Given the description of an element on the screen output the (x, y) to click on. 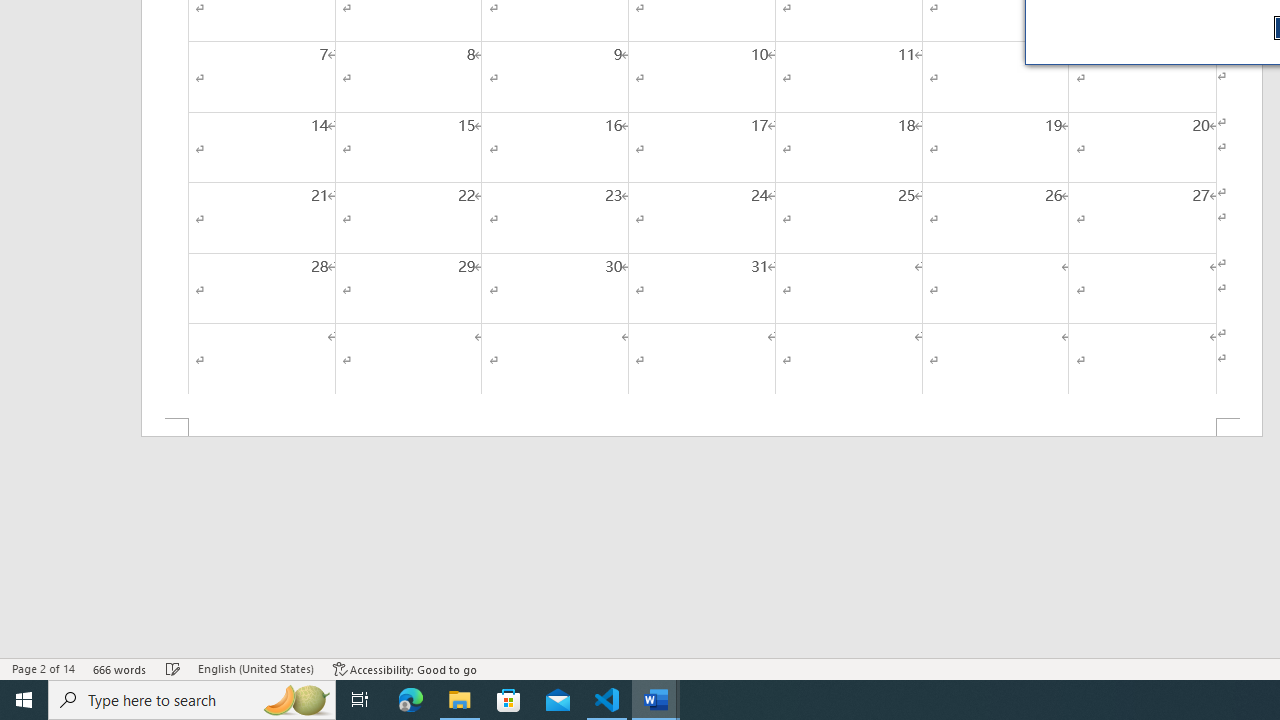
Microsoft Edge (411, 699)
Start (24, 699)
